Given the description of an element on the screen output the (x, y) to click on. 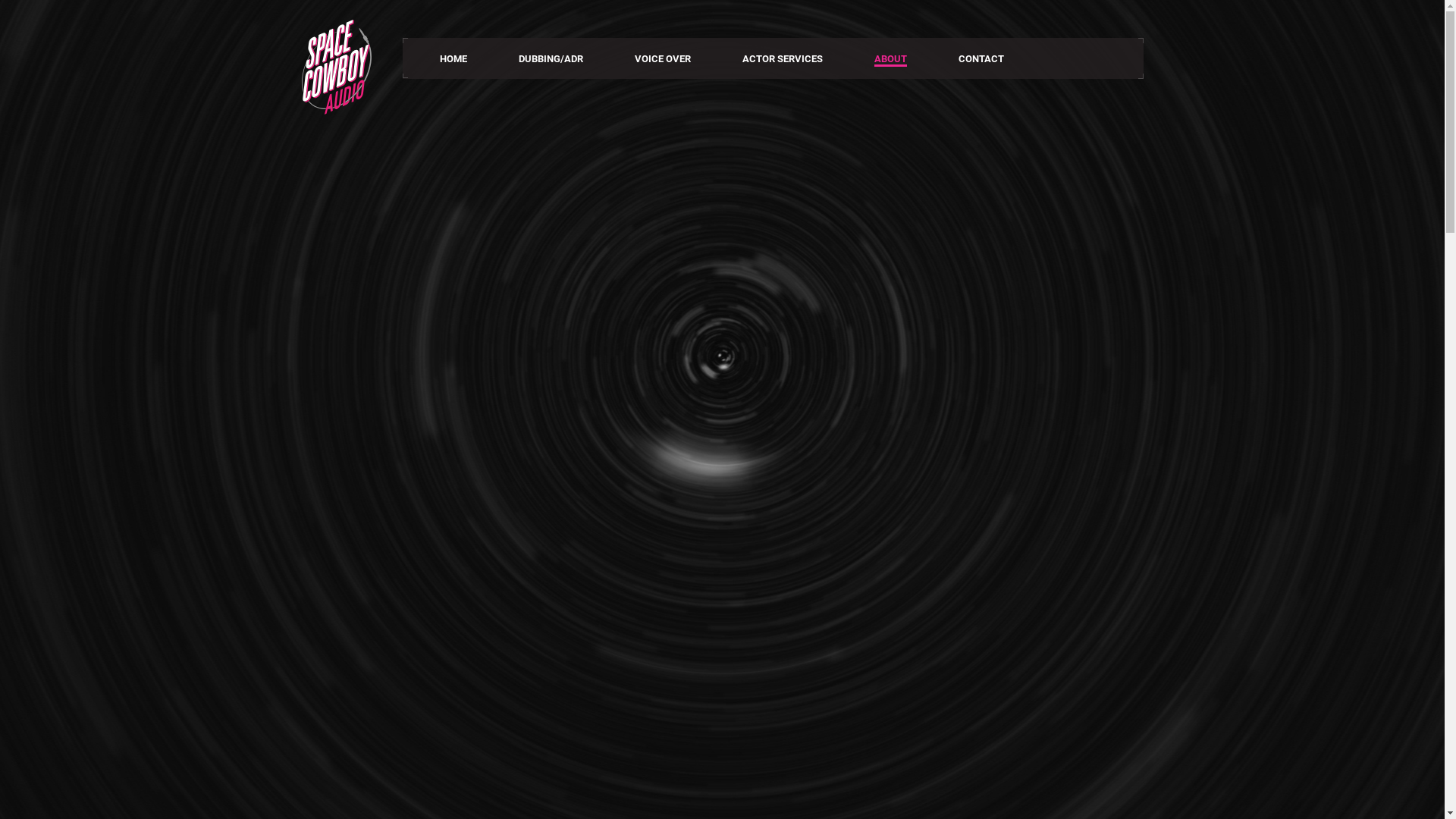
HOME Element type: text (453, 58)
DUBBING/ADR Element type: text (550, 58)
VOICE OVER Element type: text (662, 58)
ABOUT Element type: text (890, 59)
ACTOR SERVICES Element type: text (782, 58)
CONTACT Element type: text (981, 58)
